Given the description of an element on the screen output the (x, y) to click on. 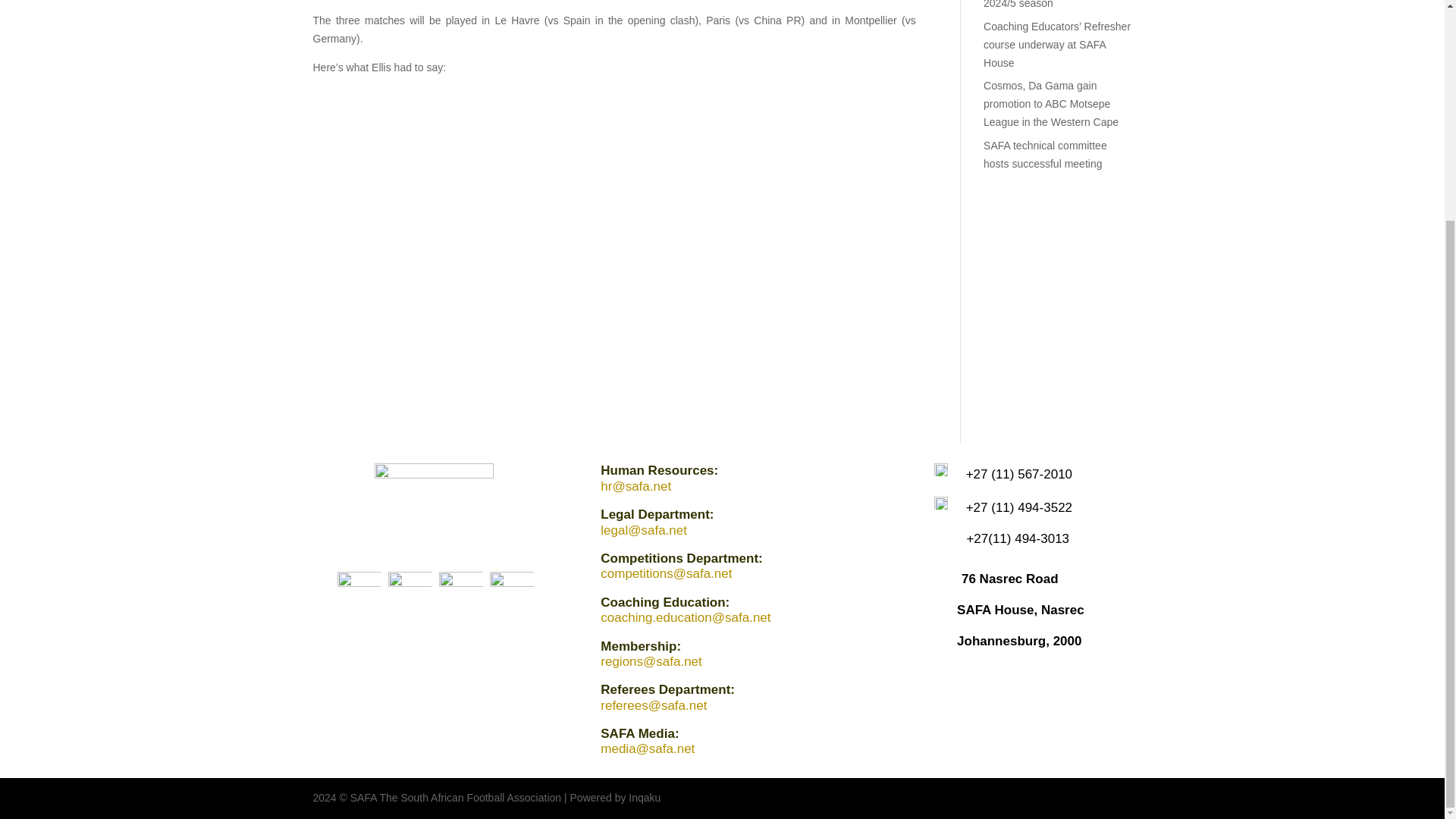
SAFA House, Nasrec (1020, 609)
76 Nasrec Road (1009, 578)
SAFA technical committee hosts successful meeting (1045, 154)
Johannesburg, 2000 (1018, 640)
